Given the description of an element on the screen output the (x, y) to click on. 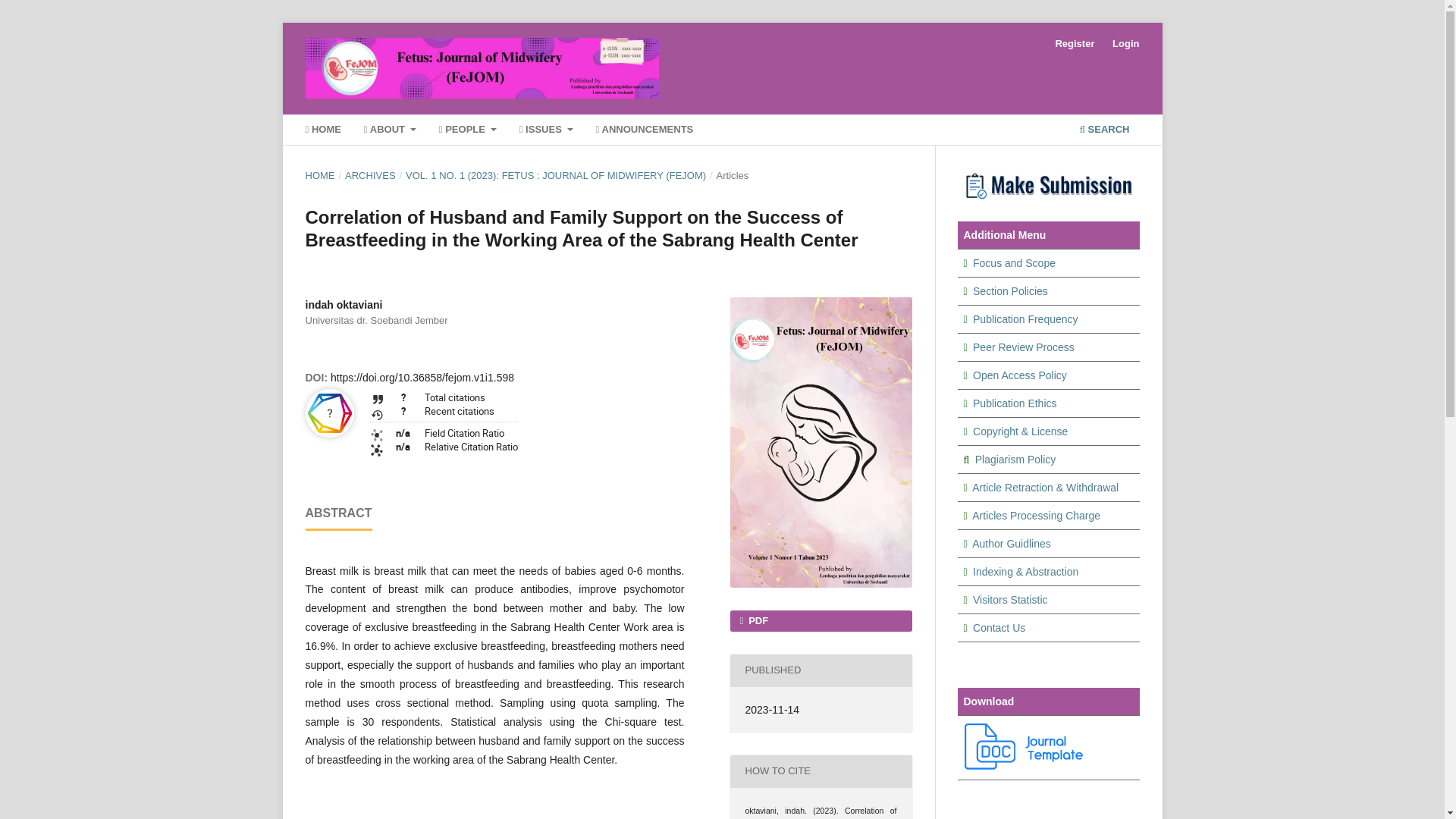
Login (1126, 43)
ARCHIVES (370, 175)
HOME (322, 130)
PEOPLE (466, 130)
Register (1074, 43)
PDF (820, 620)
ISSUES (545, 130)
ABOUT (389, 130)
ANNOUNCEMENTS (644, 130)
HOME (319, 175)
SEARCH (1104, 130)
